Given the description of an element on the screen output the (x, y) to click on. 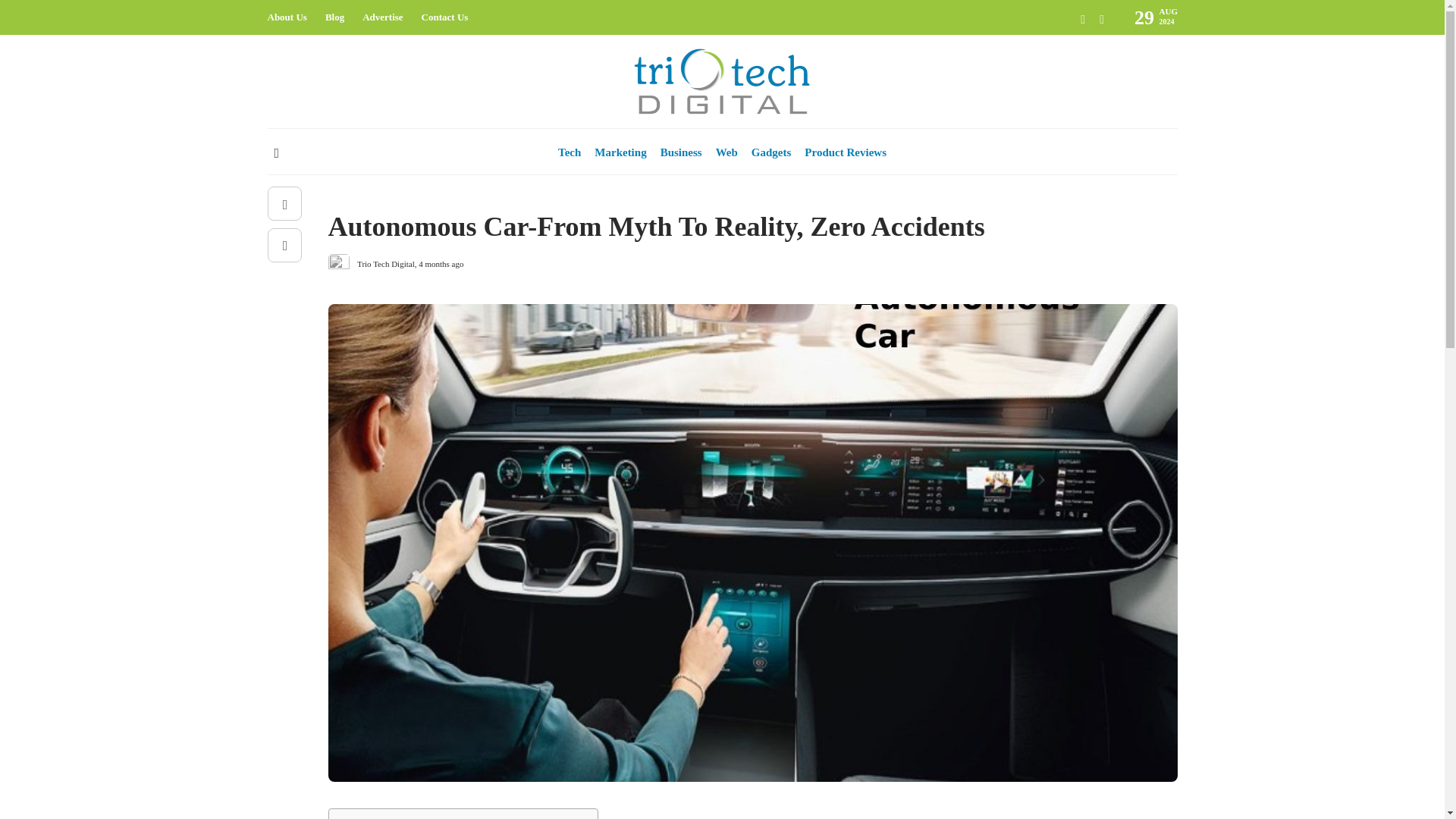
Trio Tech Digital (385, 263)
About Us (285, 17)
Business (681, 151)
Contact Us (445, 17)
Autonomous Car-From Myth To Reality, Zero Accidents (740, 230)
Advertise (382, 17)
Product Reviews (845, 151)
Gadgets (342, 195)
4 months ago (441, 263)
Marketing (620, 151)
